Given the description of an element on the screen output the (x, y) to click on. 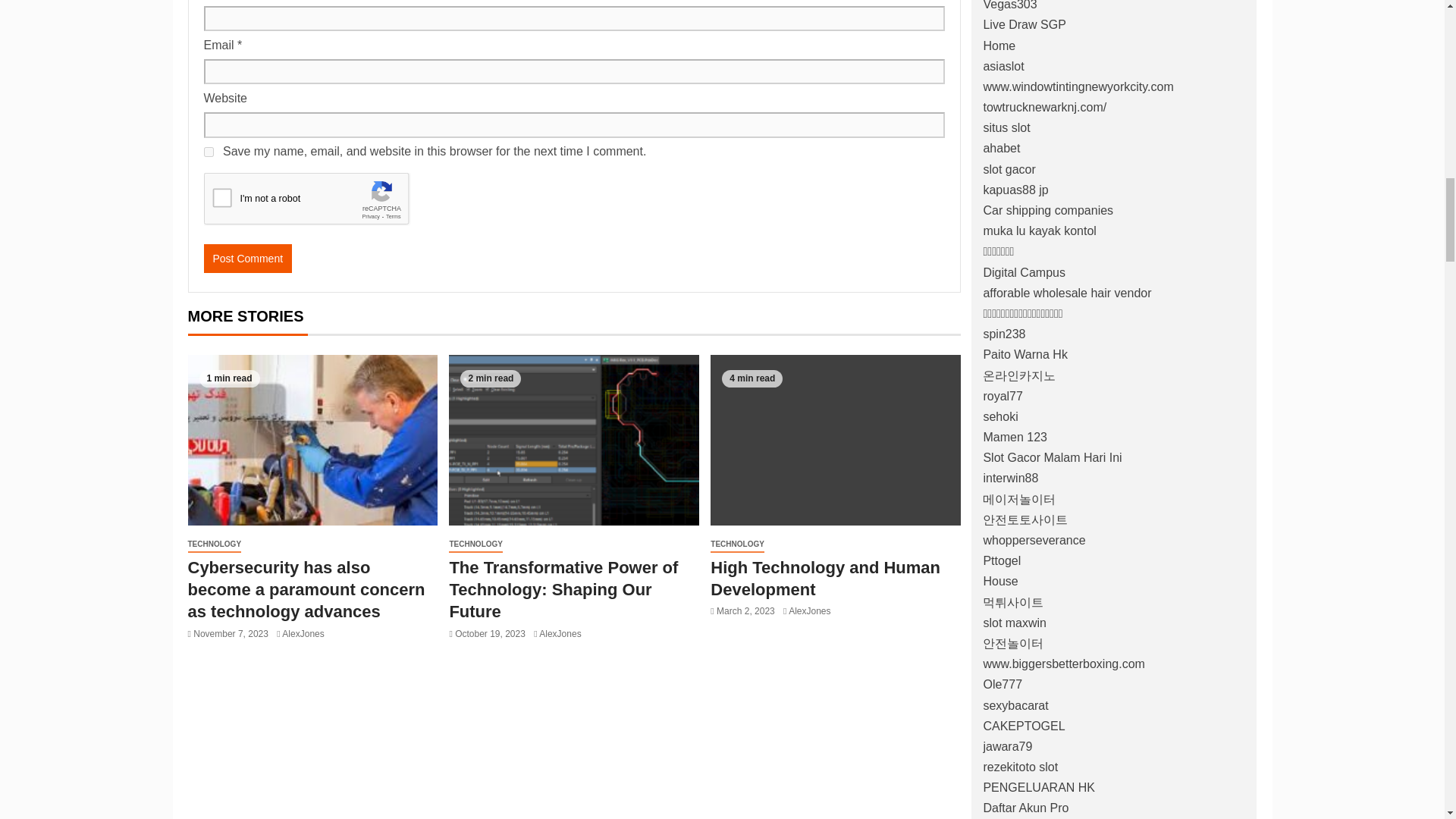
reCAPTCHA (318, 201)
Post Comment (247, 258)
AlexJones (302, 633)
TECHNOLOGY (214, 544)
yes (207, 152)
Post Comment (247, 258)
